Given the description of an element on the screen output the (x, y) to click on. 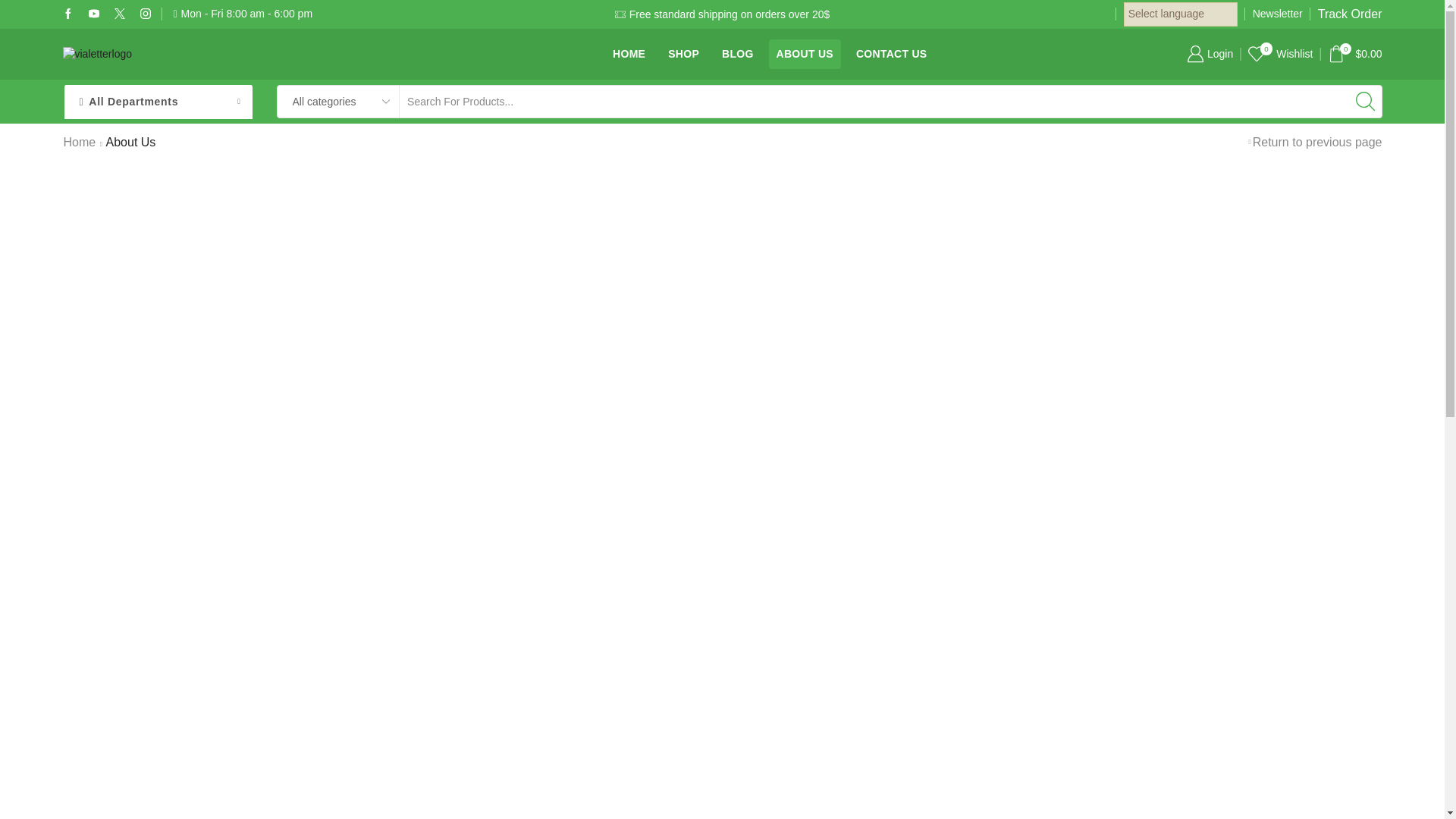
ABOUT US (804, 54)
Login (1209, 53)
Select language (1180, 14)
BLOG (737, 54)
HOME (628, 54)
CONTACT US (891, 54)
SHOP (1280, 53)
